Given the description of an element on the screen output the (x, y) to click on. 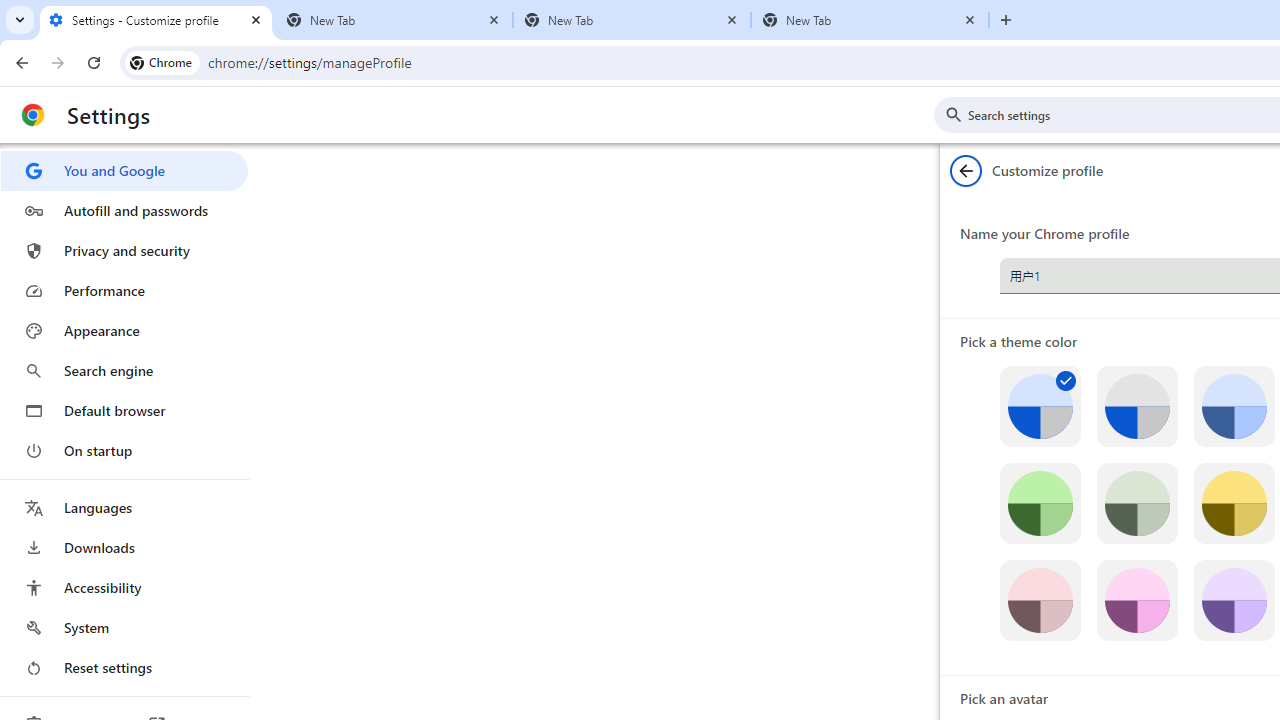
Privacy and security (124, 250)
Autofill and passwords (124, 210)
New Tab (632, 20)
On startup (124, 450)
Default browser (124, 410)
You and Google (124, 170)
